Given the description of an element on the screen output the (x, y) to click on. 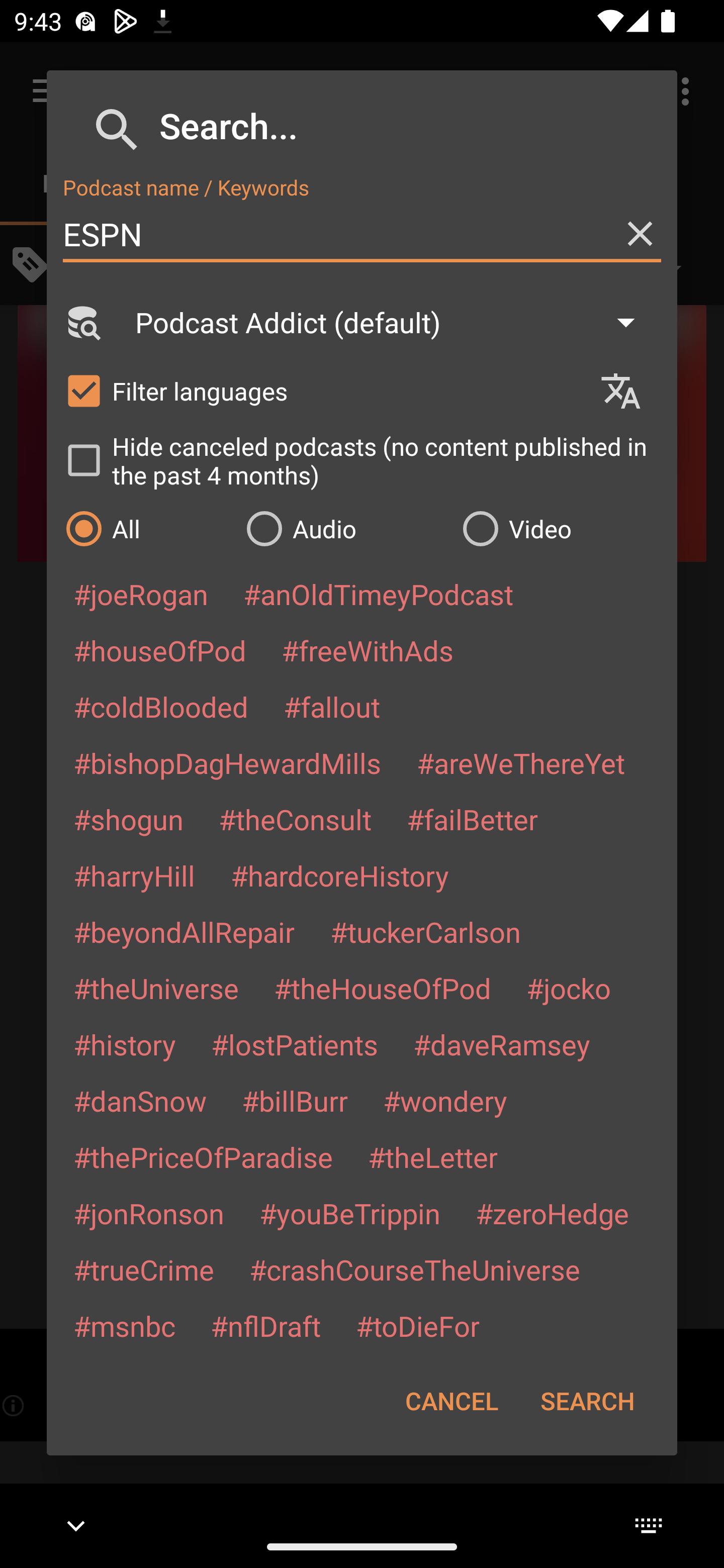
ESPN (361, 234)
Search Engine (82, 322)
Podcast Addict (default) (394, 322)
Languages selection (629, 390)
Filter languages (322, 390)
All (145, 528)
Audio (344, 528)
Video (560, 528)
#joeRogan (140, 594)
#anOldTimeyPodcast (378, 594)
#houseOfPod (159, 650)
#freeWithAds (367, 650)
#coldBlooded (160, 705)
#fallout (331, 705)
#bishopDagHewardMills (227, 762)
#areWeThereYet (521, 762)
#shogun (128, 818)
#theConsult (294, 818)
#failBetter (471, 818)
#harryHill (134, 875)
#hardcoreHistory (339, 875)
#beyondAllRepair (184, 931)
#tuckerCarlson (425, 931)
#theUniverse (155, 987)
#theHouseOfPod (381, 987)
#jocko (568, 987)
#history (124, 1044)
#lostPatients (294, 1044)
#daveRamsey (501, 1044)
#danSnow (139, 1100)
#billBurr (294, 1100)
#wondery (444, 1100)
#thePriceOfParadise (203, 1157)
#theLetter (432, 1157)
#jonRonson (148, 1213)
#youBeTrippin (349, 1213)
#zeroHedge (552, 1213)
#trueCrime (143, 1268)
#crashCourseTheUniverse (414, 1268)
#msnbc (124, 1325)
#nflDraft (265, 1325)
#toDieFor (417, 1325)
CANCEL (451, 1400)
SEARCH (587, 1400)
